Given the description of an element on the screen output the (x, y) to click on. 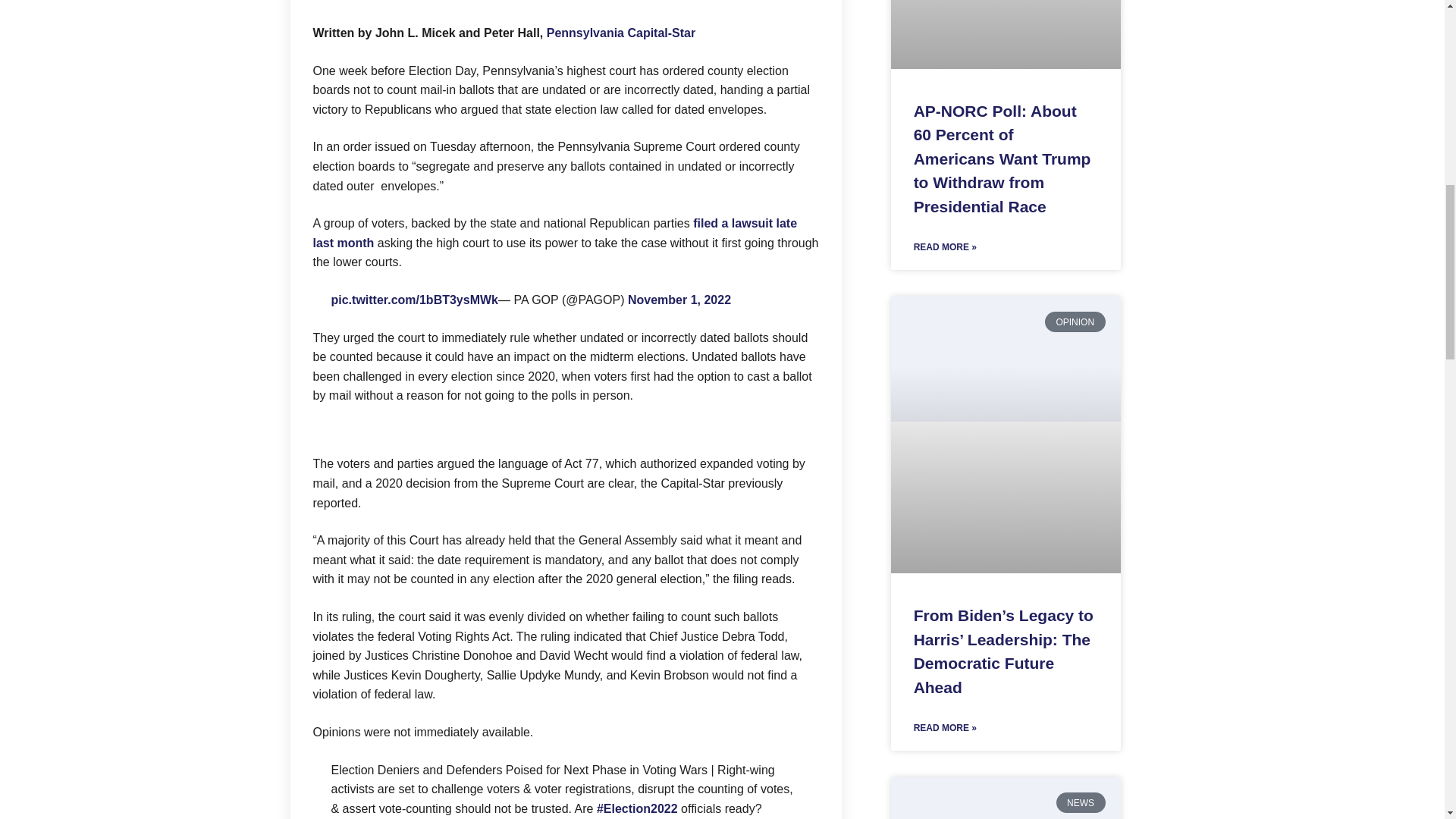
November 1, 2022 (678, 299)
Pennsylvania Capital-Star (621, 32)
filed a lawsuit late last month (554, 233)
